Given the description of an element on the screen output the (x, y) to click on. 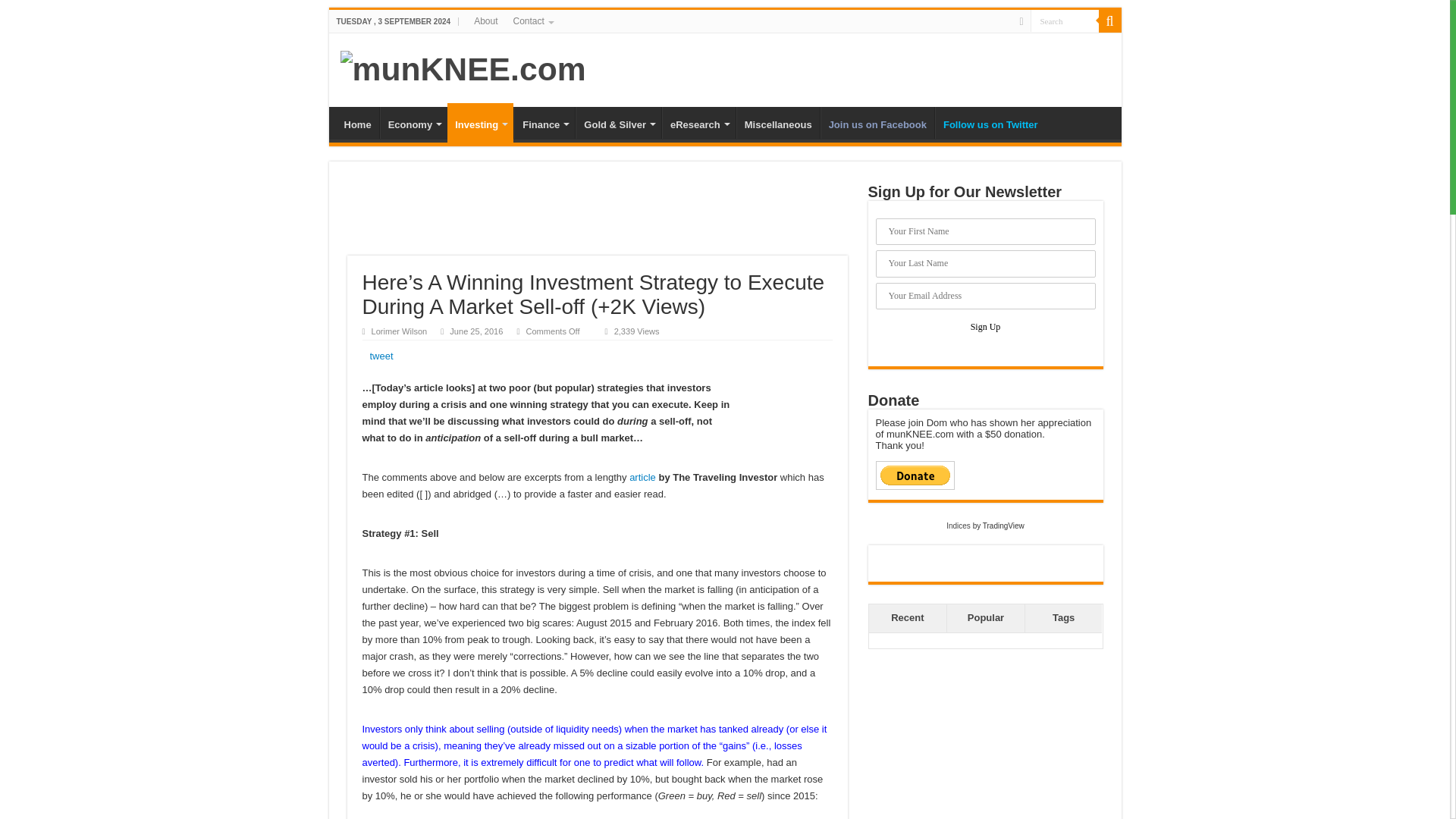
Search (1063, 20)
About (485, 20)
Economy (414, 122)
Search (1109, 20)
Search (1063, 20)
Home (357, 122)
Sign Up (985, 326)
munKNEE.com (462, 66)
Join us on Facebook (877, 122)
Investing (479, 122)
